Given the description of an element on the screen output the (x, y) to click on. 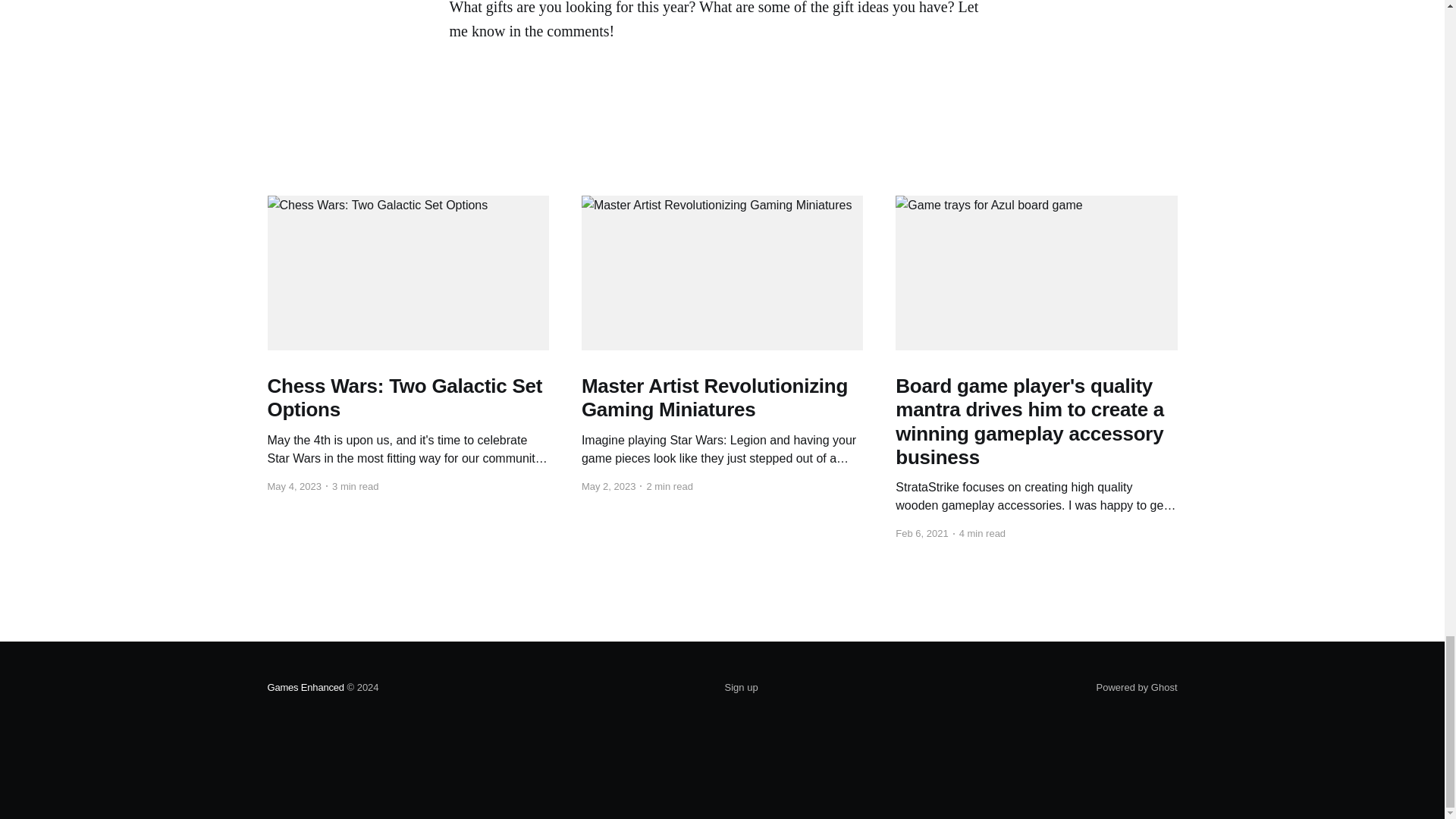
Games Enhanced (304, 686)
Sign up (741, 687)
Powered by Ghost (1136, 686)
